Given the description of an element on the screen output the (x, y) to click on. 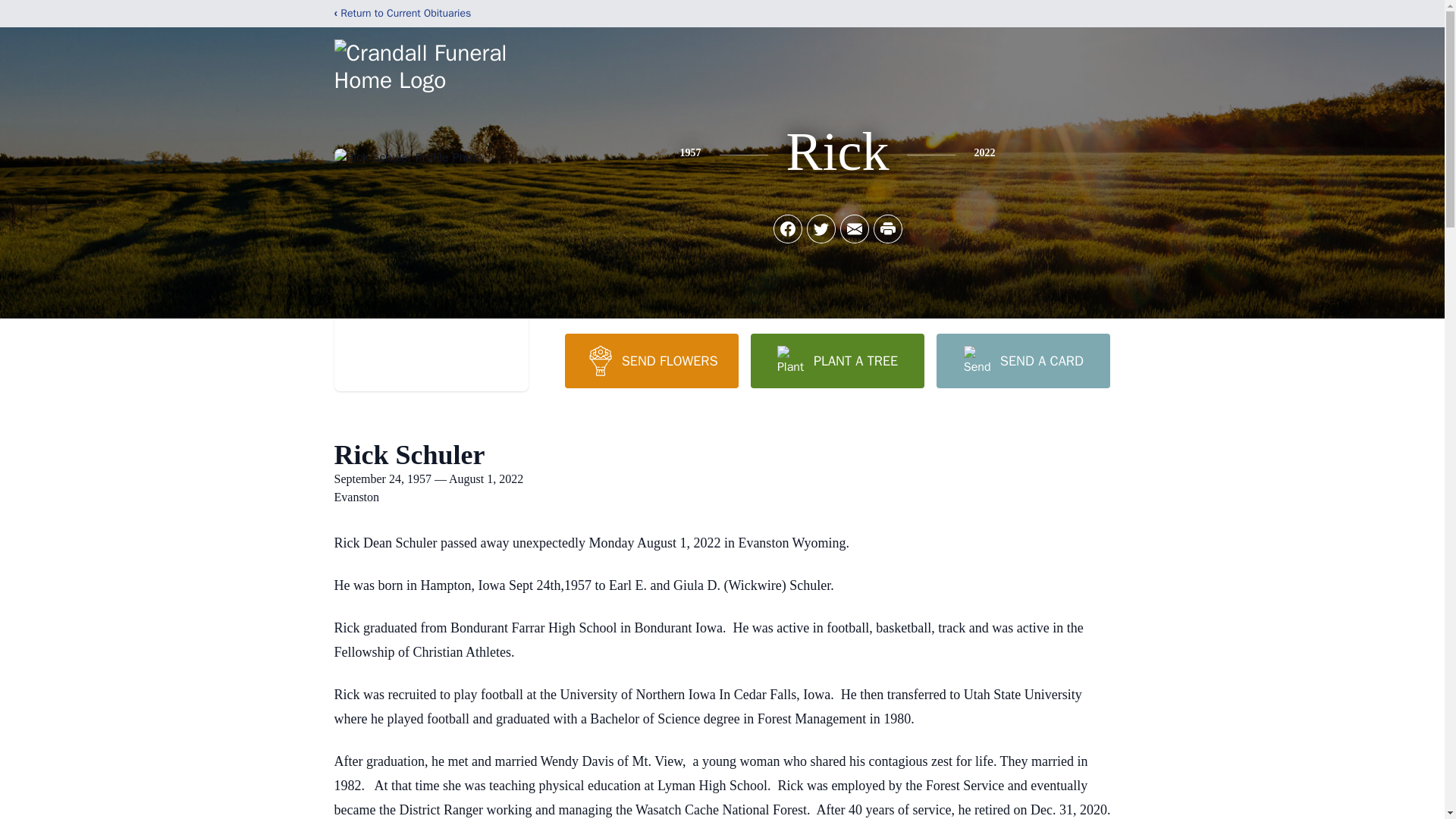
PLANT A TREE (837, 360)
SEND FLOWERS (651, 360)
SEND A CARD (1022, 360)
